Given the description of an element on the screen output the (x, y) to click on. 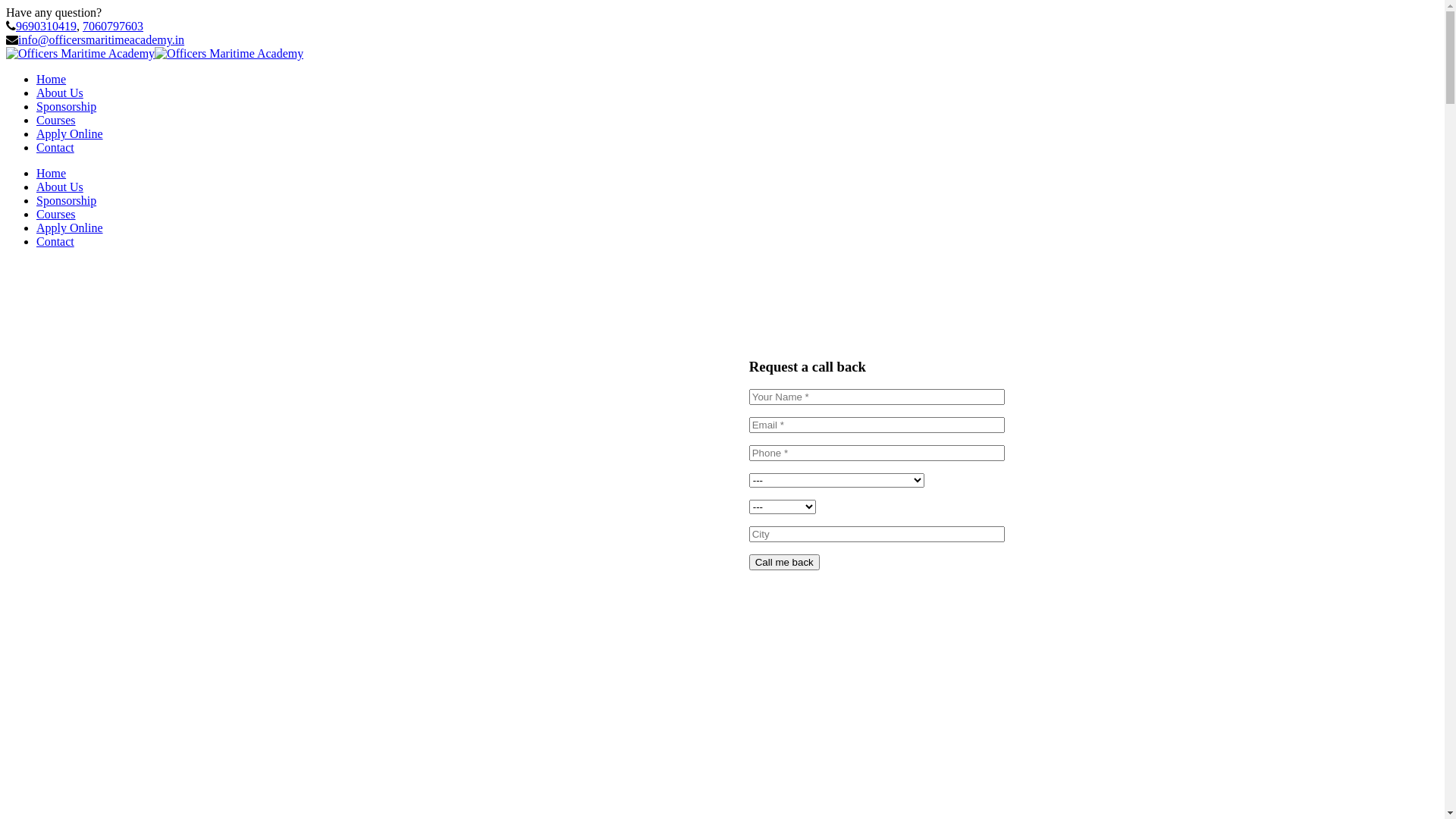
info@officersmaritimeacademy.in Element type: text (101, 39)
Contact Element type: text (55, 241)
Apply Online Element type: text (69, 133)
Home Element type: text (50, 172)
Courses Element type: text (55, 119)
7060797603 Element type: text (112, 25)
Courses Element type: text (55, 213)
9690310419 Element type: text (45, 25)
Sponsorship Element type: text (66, 106)
Apply Online Element type: text (69, 227)
About Us Element type: text (59, 186)
Call me back Element type: text (784, 562)
Contact Element type: text (55, 147)
Sponsorship Element type: text (66, 200)
Officers Maritime Academy - Merchant Navy Dehradun Element type: hover (80, 53)
About Us Element type: text (59, 92)
Home Element type: text (50, 78)
